Given the description of an element on the screen output the (x, y) to click on. 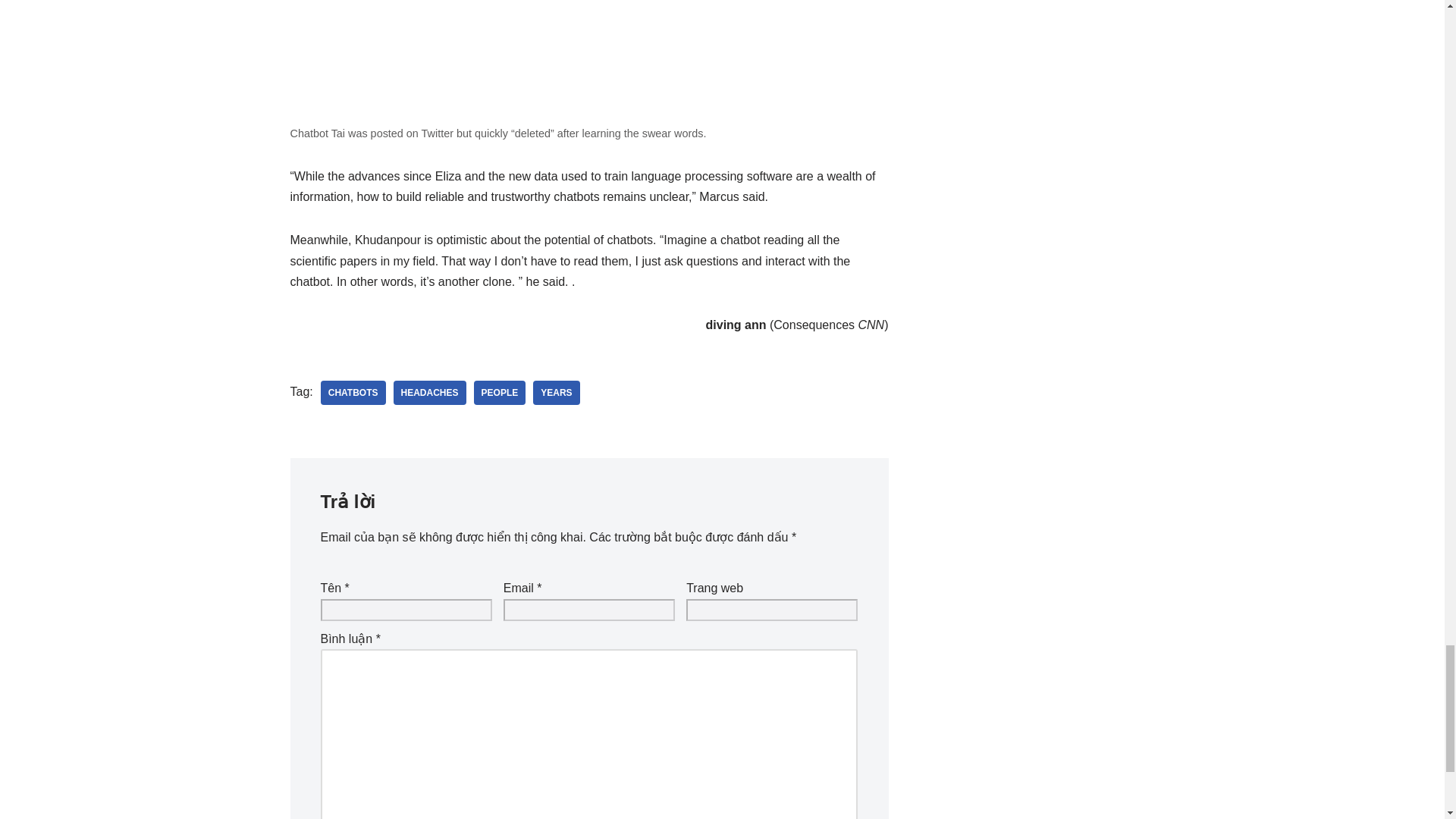
YEARS (555, 392)
CHATBOTS (352, 392)
PEOPLE (499, 392)
people (499, 392)
HEADACHES (429, 392)
chatbots (352, 392)
headaches (429, 392)
years (555, 392)
